Given the description of an element on the screen output the (x, y) to click on. 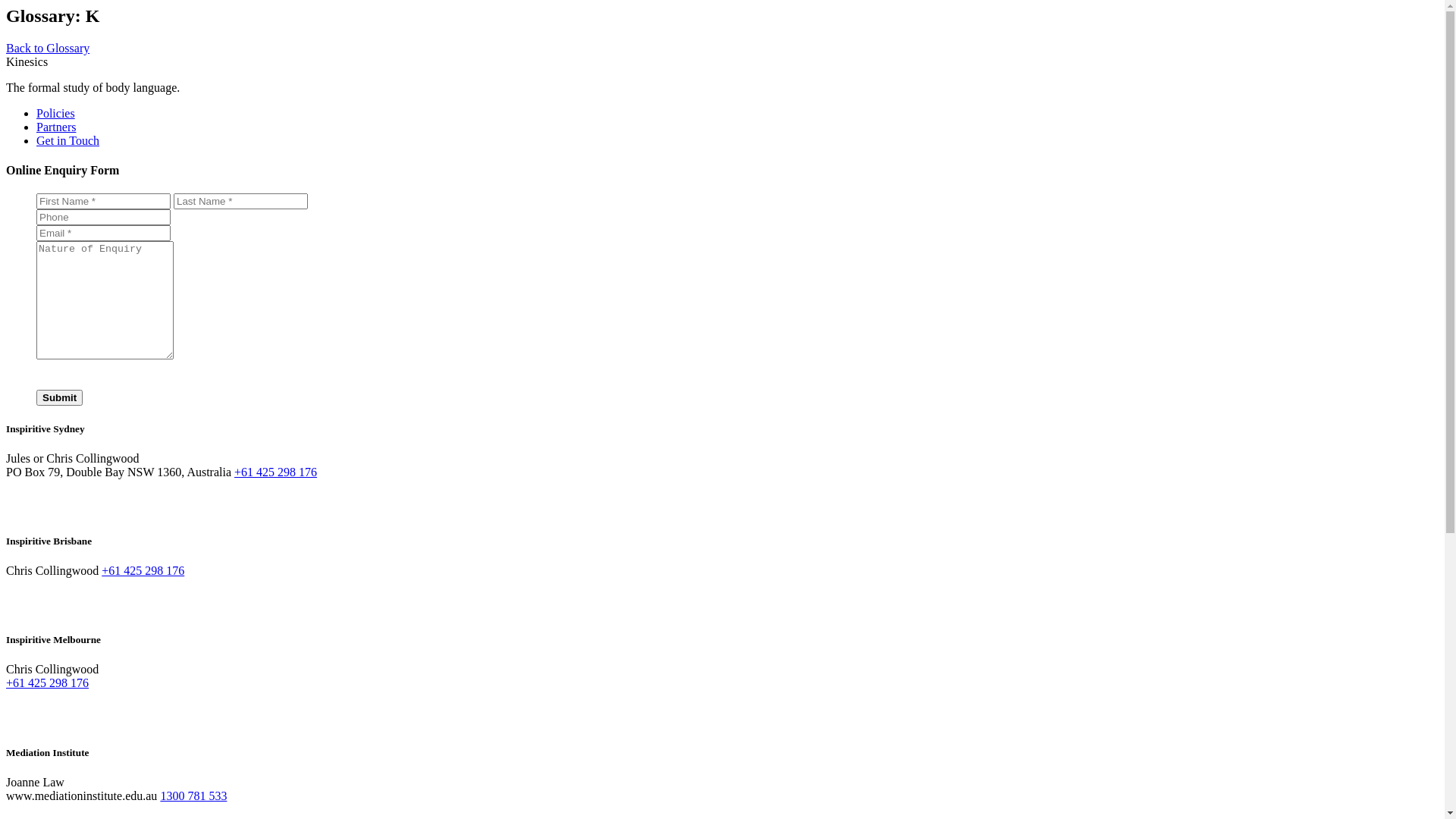
+61 425 298 176 Element type: text (142, 570)
Partners Element type: text (55, 126)
+61 425 298 176 Element type: text (275, 471)
Get in Touch Element type: text (67, 140)
+61 425 298 176 Element type: text (47, 682)
1300 781 533 Element type: text (193, 795)
Policies Element type: text (55, 112)
Back to Glossary Element type: text (47, 47)
Submit Element type: text (59, 397)
